Given the description of an element on the screen output the (x, y) to click on. 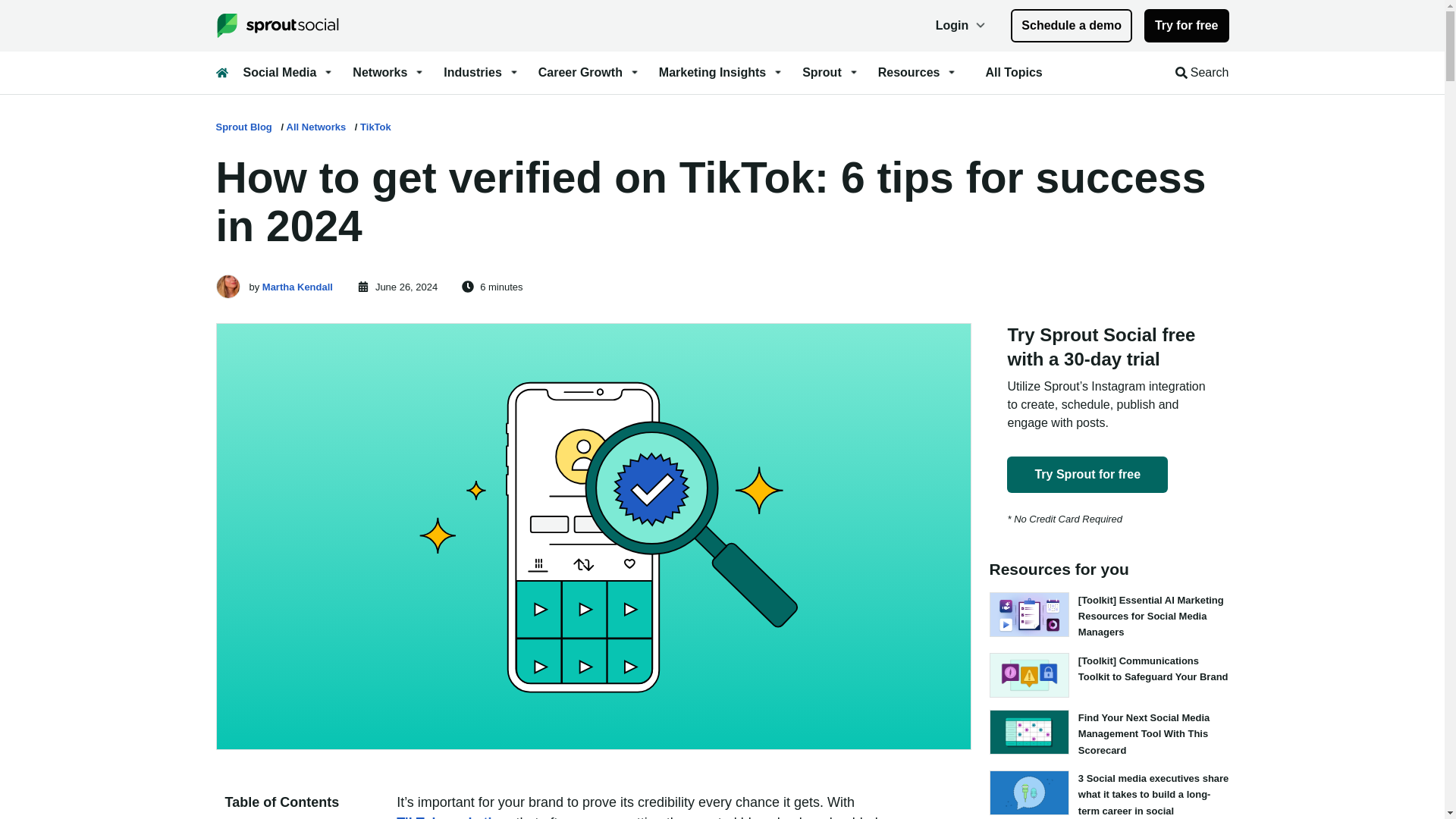
Open Marketing Insights menu (721, 72)
Sprout Social (282, 25)
Social Media (288, 72)
Open Resources menu (917, 72)
Open Networks menu (388, 72)
Networks (388, 72)
Open Login Menu (961, 25)
Open Industries menu (481, 72)
Open Social Media menu (288, 72)
Login (961, 25)
